Given the description of an element on the screen output the (x, y) to click on. 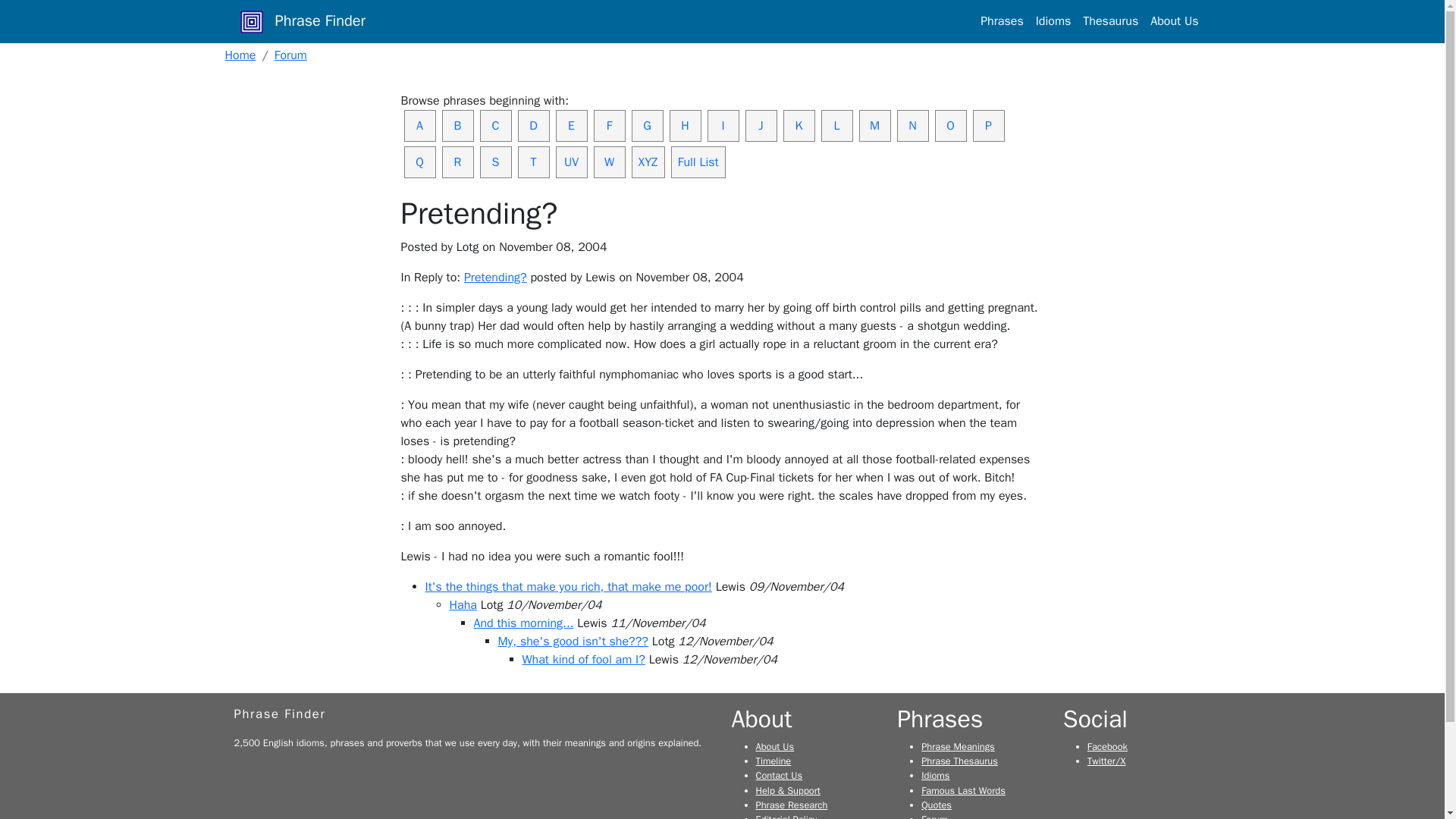
A (419, 125)
And this morning... (523, 622)
Pretending? (495, 277)
H (684, 125)
Sayings and idioms that begin with the letter S (495, 162)
J (760, 125)
What kind of fool am I? (583, 659)
T (532, 162)
Sayings and idioms that begin with the letter O (950, 125)
N (912, 125)
E (570, 125)
Sayings and idioms that begin with the letter G (646, 125)
Sayings and idioms that begin with the letter L (836, 125)
Full List (698, 162)
Sayings and idioms that begin with the letter B (457, 125)
